Given the description of an element on the screen output the (x, y) to click on. 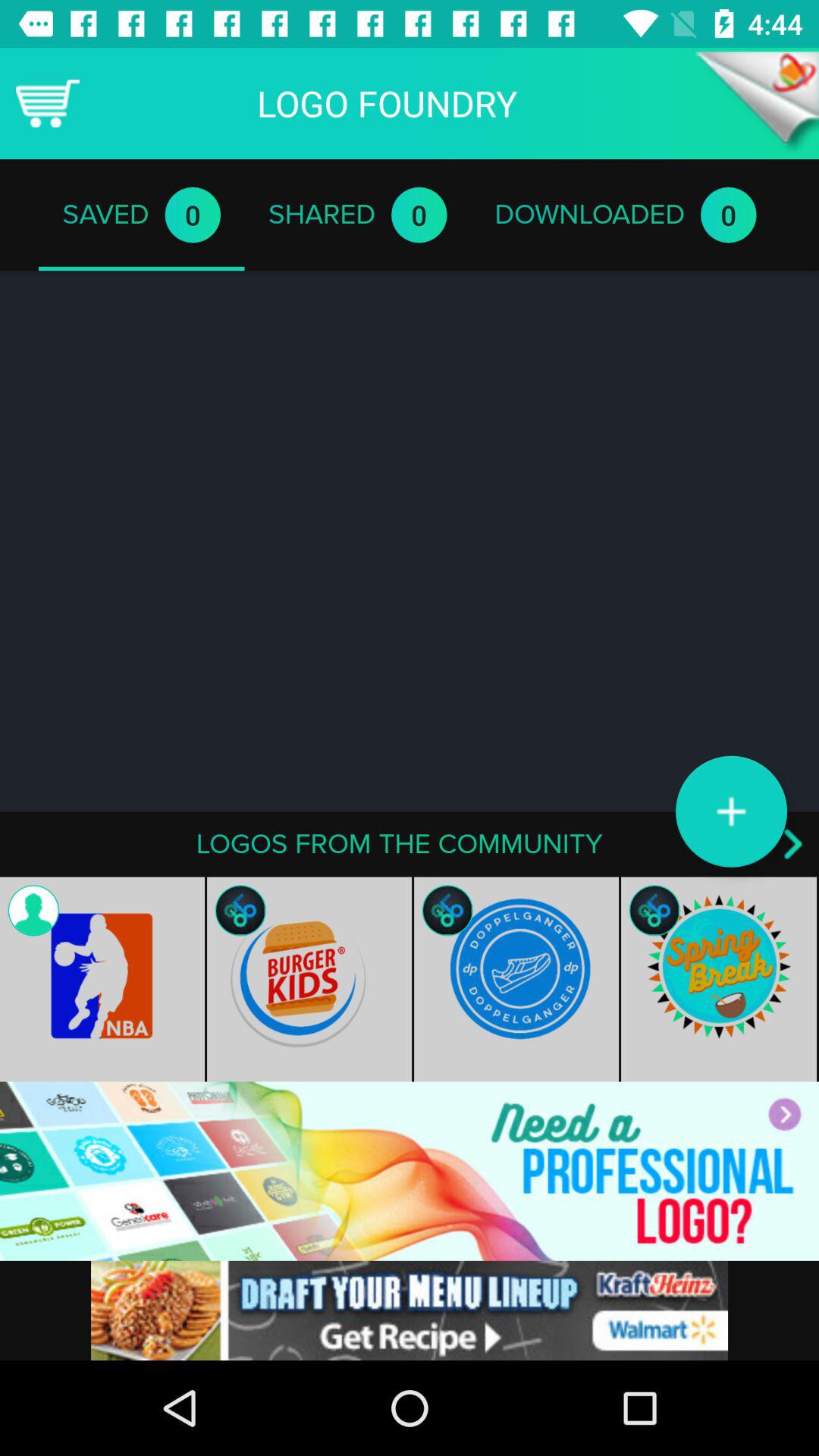
advertisement (409, 1310)
